Given the description of an element on the screen output the (x, y) to click on. 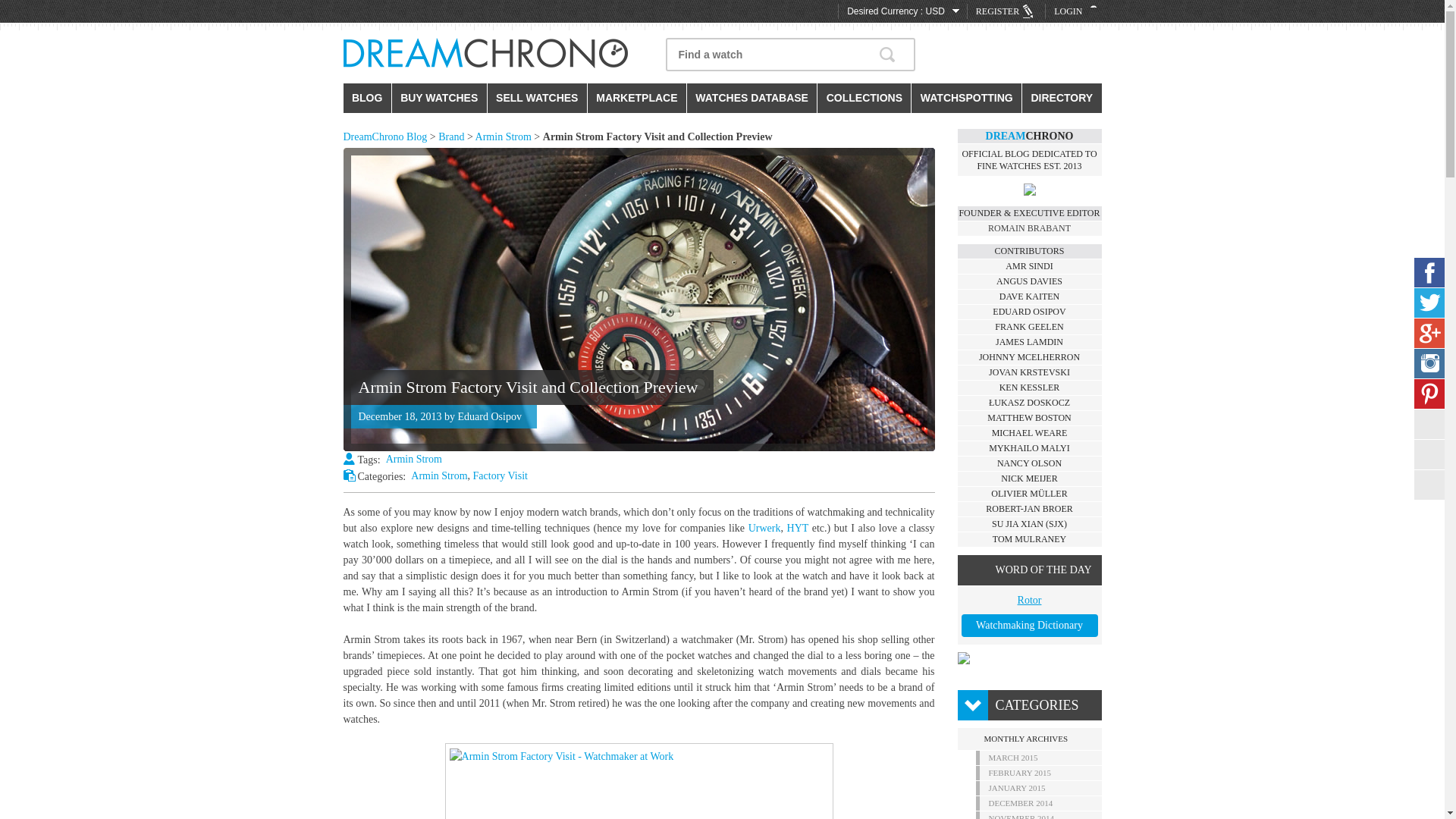
Factory Visit (500, 475)
Armin Strom (438, 475)
HYT (798, 527)
Armin Strom Factory Visit - Watchmaker at Work (638, 783)
WATCHSPOTTING (966, 98)
BUY WATCHES (438, 98)
LOGIN (1077, 11)
DIRECTORY (1061, 98)
BLOG (366, 98)
